Given the description of an element on the screen output the (x, y) to click on. 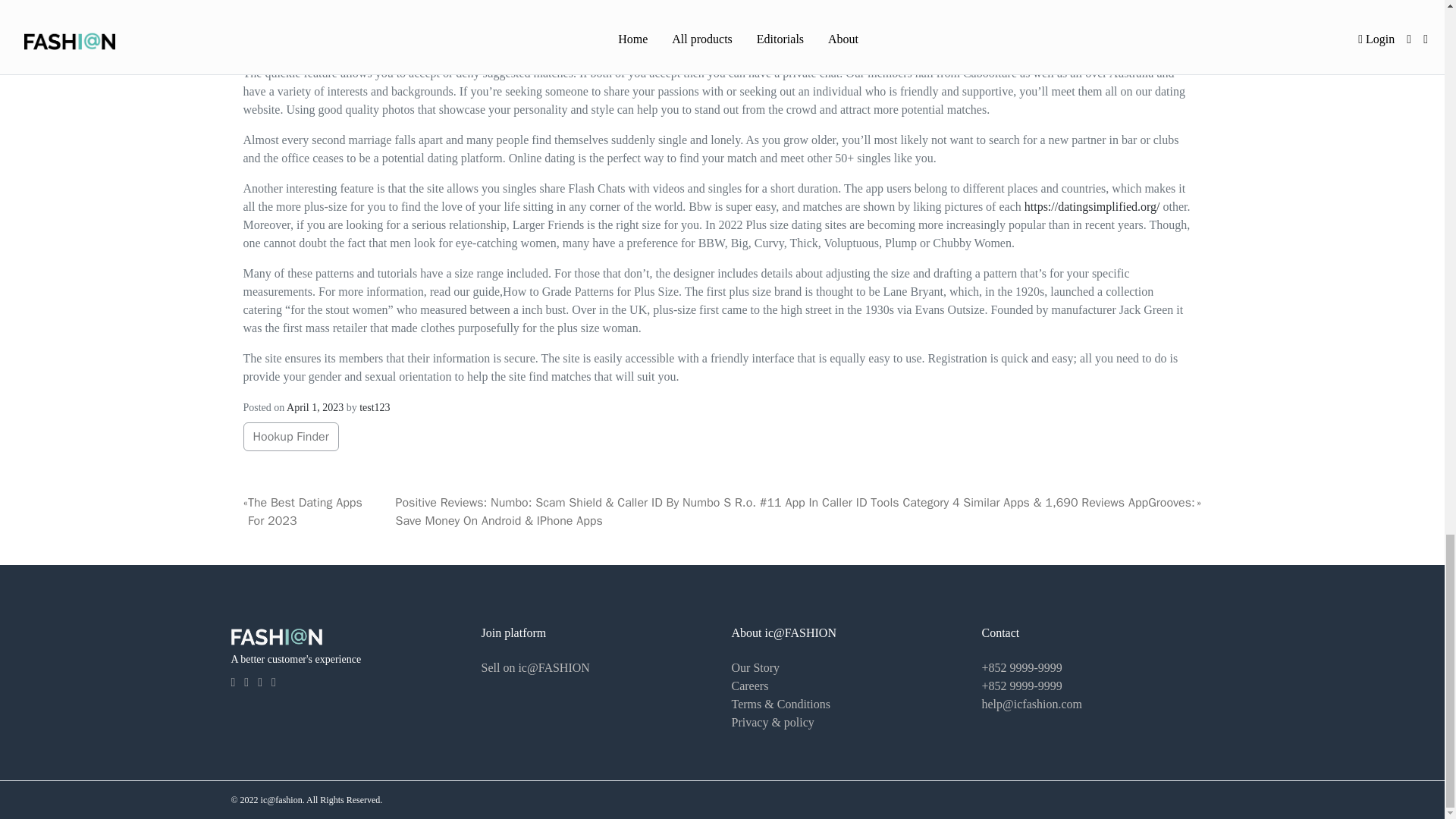
test123 (374, 407)
The Best Dating Apps For 2023 (321, 511)
Hookup Finder (291, 436)
Our Story (754, 667)
Hookup Finder (290, 436)
April 1, 2023 (314, 407)
Careers (749, 685)
